Given the description of an element on the screen output the (x, y) to click on. 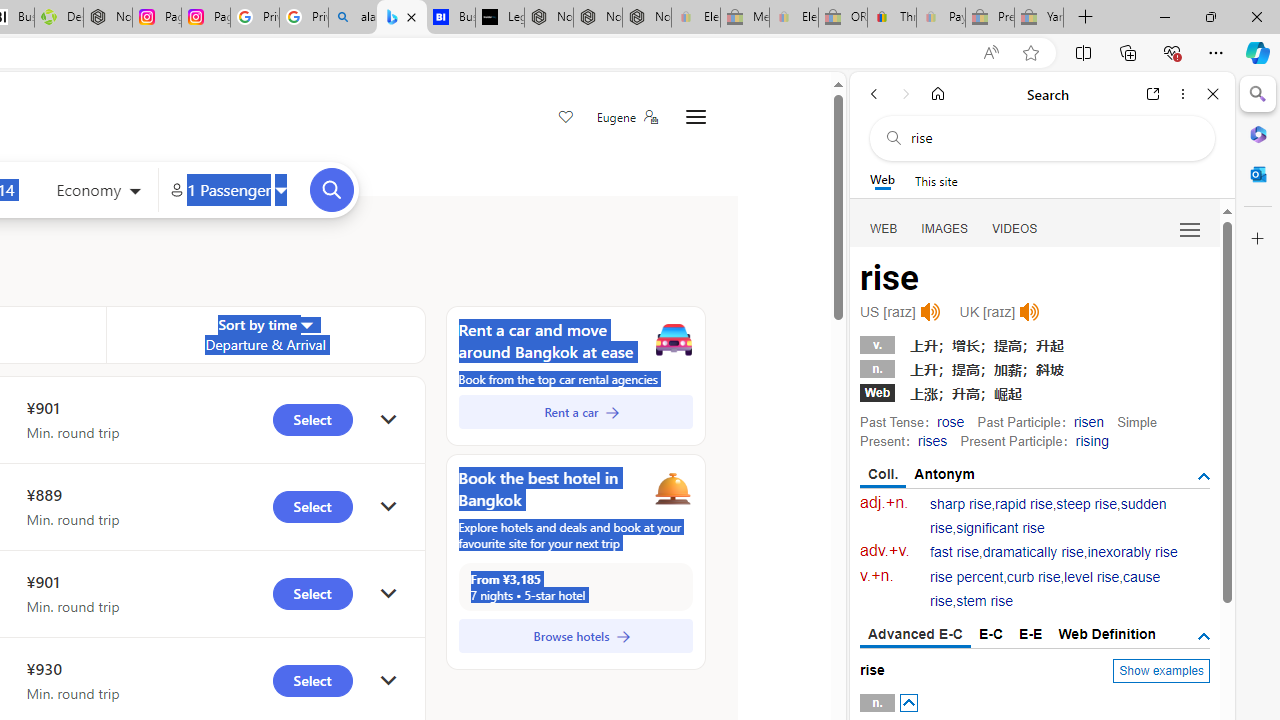
Browse hotels (575, 636)
rose (950, 421)
Web Definition (1106, 633)
dramatically rise (1032, 552)
click to get details (388, 680)
